Given the description of an element on the screen output the (x, y) to click on. 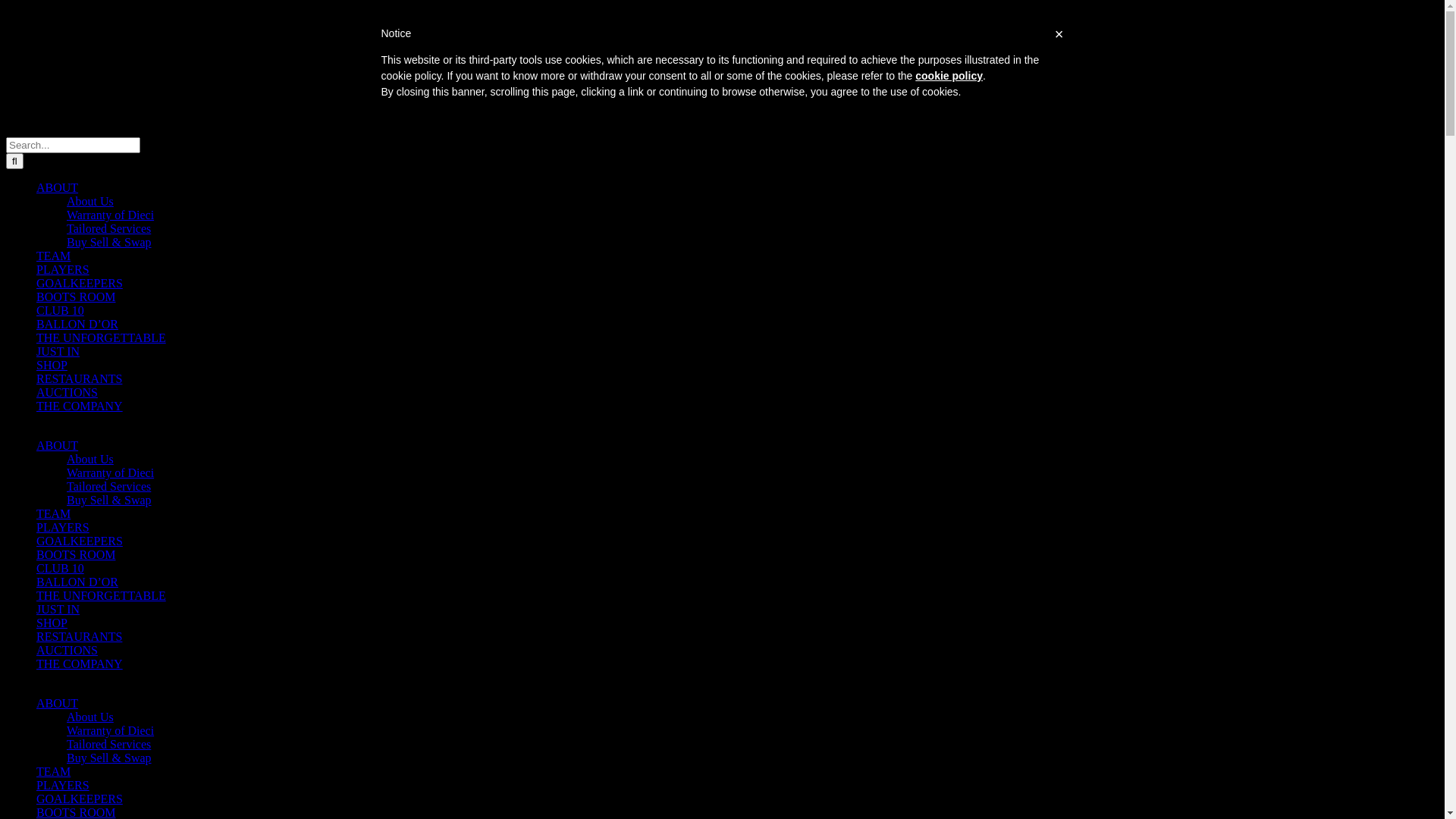
Warranty of Dieci Element type: text (109, 730)
SHOP Element type: text (51, 622)
About Us Element type: text (89, 716)
TEAM Element type: text (53, 513)
BOOTS ROOM Element type: text (75, 554)
cookie policy Element type: text (948, 75)
SHOP Element type: text (51, 364)
THE COMPANY Element type: text (79, 405)
RESTAURANTS Element type: text (79, 378)
ABOUT Element type: text (57, 445)
TEAM Element type: text (53, 771)
THE COMPANY Element type: text (79, 663)
Warranty of Dieci Element type: text (109, 472)
Tailored Services Element type: text (108, 486)
Buy Sell & Swap Element type: text (108, 499)
TEAM Element type: text (53, 255)
JUST IN Element type: text (57, 608)
Tailored Services Element type: text (108, 743)
THE UNFORGETTABLE Element type: text (101, 337)
GOALKEEPERS Element type: text (79, 282)
PLAYERS Element type: text (62, 784)
About Us Element type: text (89, 200)
CLUB 10 Element type: text (60, 310)
GOALKEEPERS Element type: text (79, 798)
ABOUT Element type: text (57, 702)
Warranty of Dieci Element type: text (109, 214)
BOOTS ROOM Element type: text (75, 296)
AUCTIONS Element type: text (66, 391)
ABOUT Element type: text (57, 187)
Buy Sell & Swap Element type: text (108, 757)
Buy Sell & Swap Element type: text (108, 241)
AUCTIONS Element type: text (66, 649)
Skip to content Element type: text (5, 5)
About Us Element type: text (89, 458)
CLUB 10 Element type: text (60, 567)
Tailored Services Element type: text (108, 228)
GOALKEEPERS Element type: text (79, 540)
PLAYERS Element type: text (62, 269)
RESTAURANTS Element type: text (79, 636)
PLAYERS Element type: text (62, 526)
THE UNFORGETTABLE Element type: text (101, 595)
JUST IN Element type: text (57, 351)
